Given the description of an element on the screen output the (x, y) to click on. 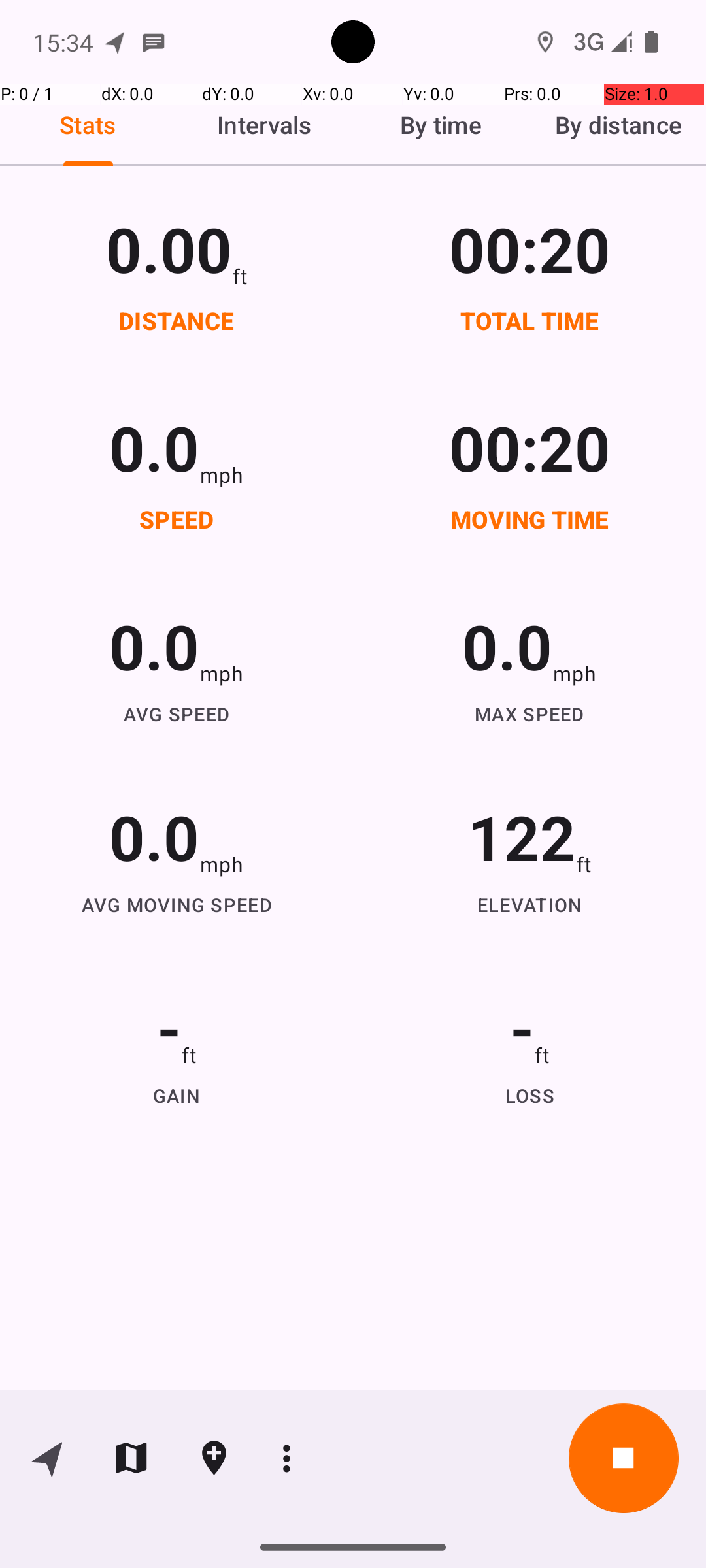
Insert marker Element type: android.widget.Button (213, 1458)
Stop Element type: android.widget.ImageButton (623, 1458)
0.00 Element type: android.widget.TextView (168, 248)
00:20 Element type: android.widget.TextView (529, 248)
0.0 Element type: android.widget.TextView (154, 446)
SPEED Element type: android.widget.TextView (176, 518)
122 Element type: android.widget.TextView (521, 836)
ELEVATION Element type: android.widget.TextView (529, 904)
- Element type: android.widget.TextView (168, 1026)
